Given the description of an element on the screen output the (x, y) to click on. 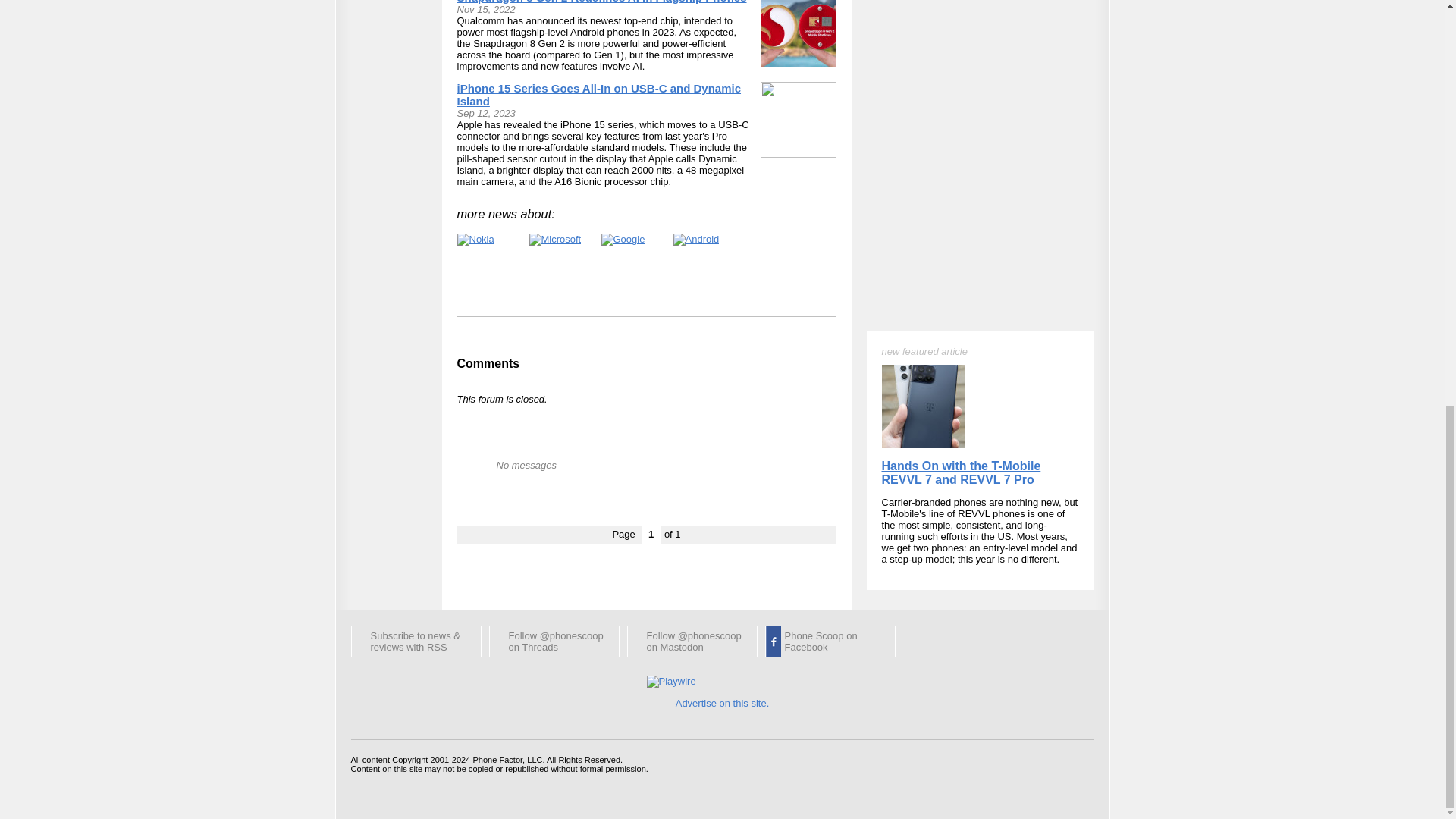
Comments (488, 363)
Microsoft (554, 239)
Nokia (475, 239)
Phone Scoop - Latest News (415, 641)
Google (622, 239)
Android (695, 239)
Hands On with the T-Mobile REVVL 7 and REVVL 7 Pro (960, 102)
